Given the description of an element on the screen output the (x, y) to click on. 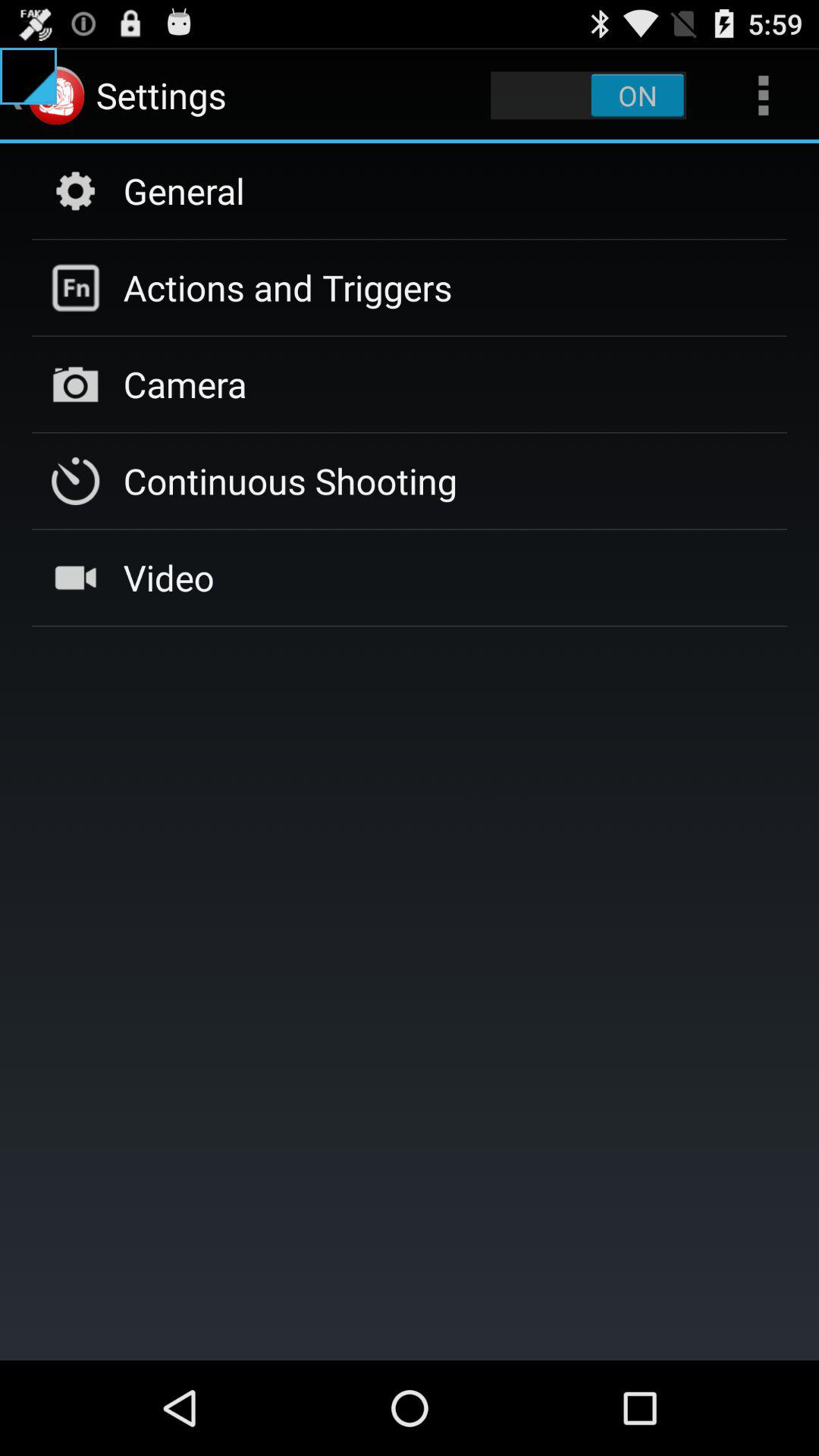
swipe until continuous shooting icon (290, 480)
